Given the description of an element on the screen output the (x, y) to click on. 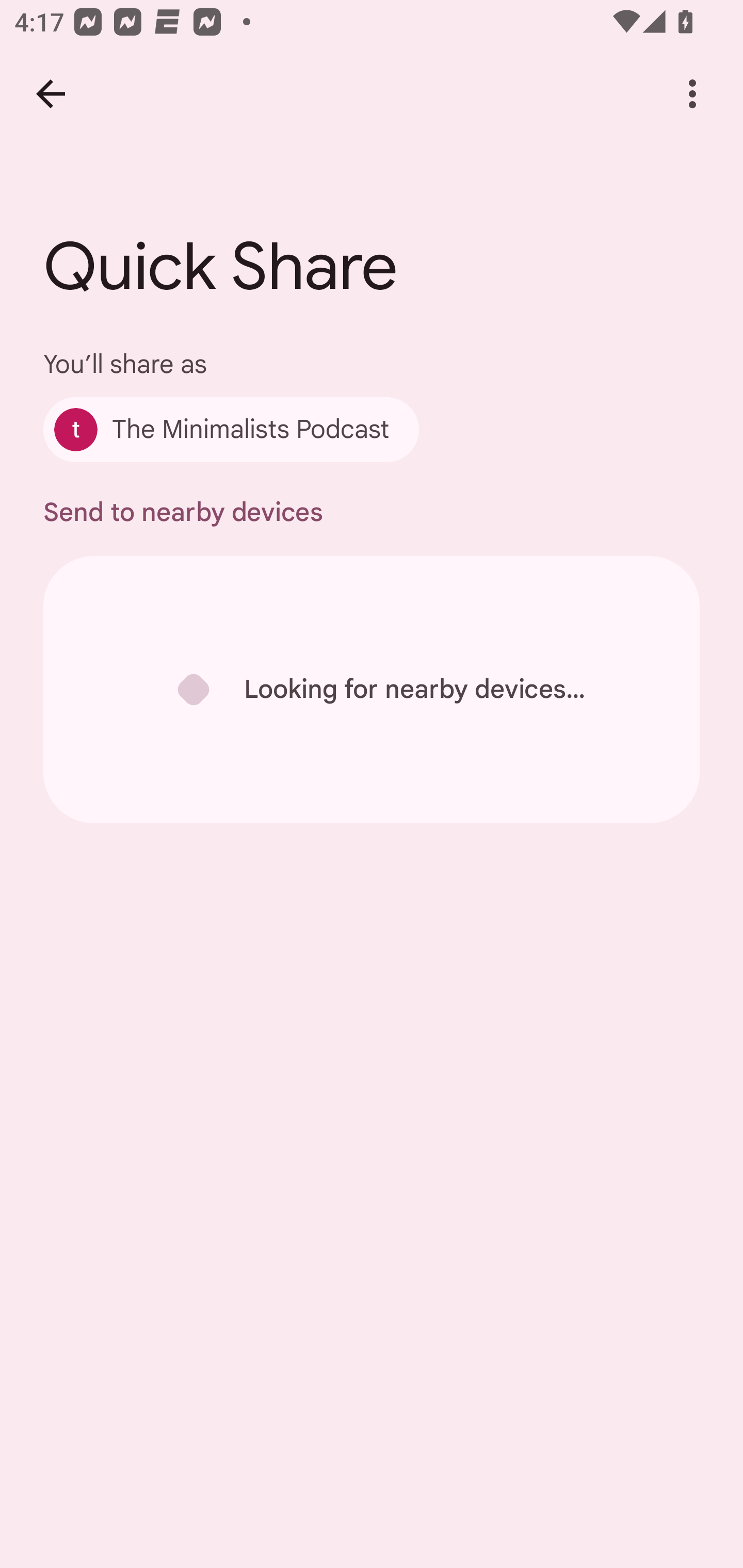
Back (50, 93)
More (692, 93)
The Minimalists Podcast (231, 429)
